Given the description of an element on the screen output the (x, y) to click on. 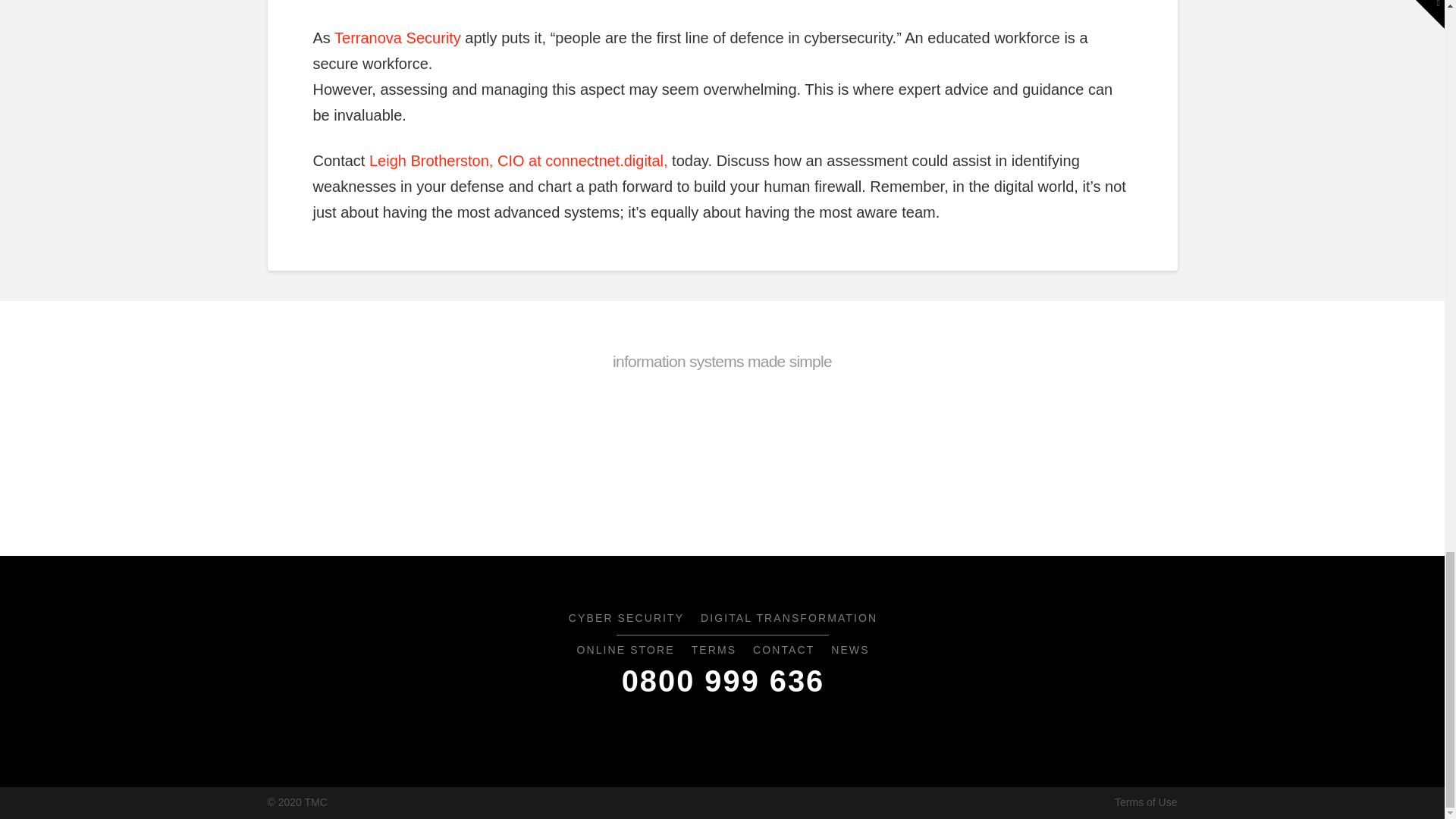
TERMS (713, 650)
Terranova Security (397, 37)
DIGITAL TRANSFORMATION (788, 619)
NEWS (849, 650)
Leigh Brotherston, CIO at connectnet.digital, (518, 160)
CYBER SECURITY (625, 619)
ONLINE STORE (624, 650)
0800 999 636 (722, 681)
CONTACT (783, 650)
Terms of Use (1145, 802)
